Given the description of an element on the screen output the (x, y) to click on. 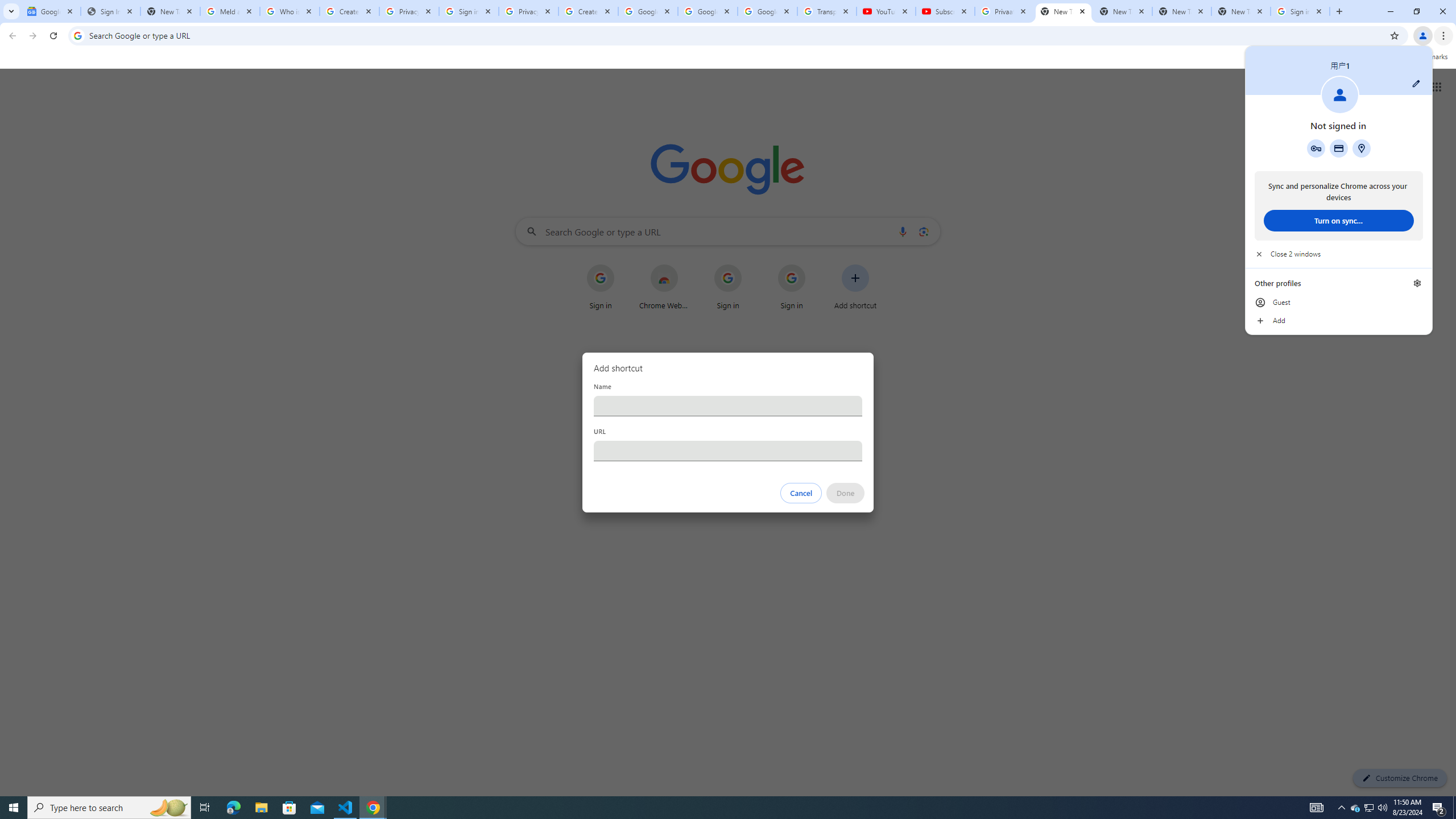
URL (1355, 807)
New Tab (727, 450)
Guest (1241, 11)
Add (1338, 302)
Customize profile (1338, 321)
Show desktop (1368, 807)
Google Account (1415, 83)
Visual Studio Code - 1 running window (1454, 807)
Payment methods (767, 11)
Task View (345, 807)
